Given the description of an element on the screen output the (x, y) to click on. 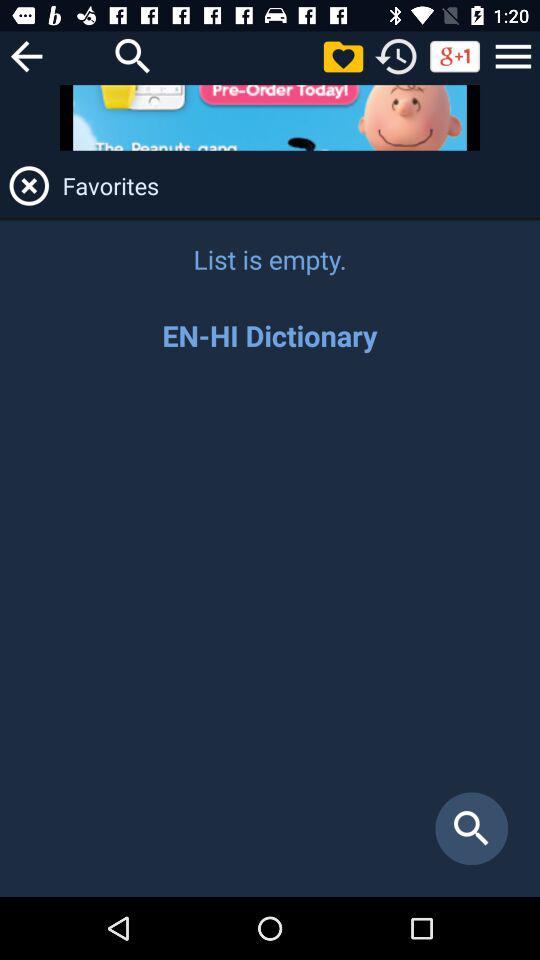
search it (133, 56)
